Given the description of an element on the screen output the (x, y) to click on. 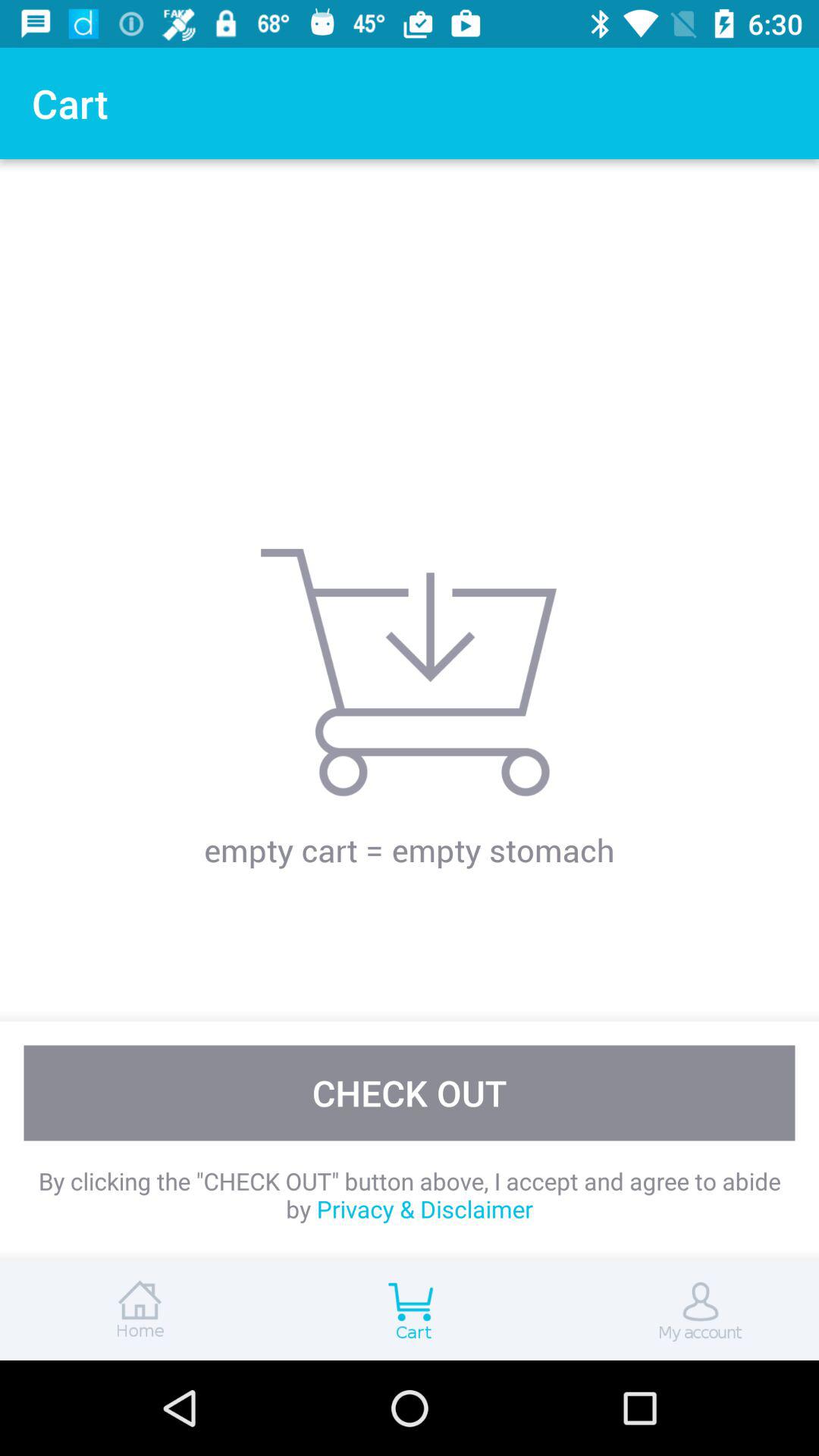
go to shopping cart (409, 1310)
